Given the description of an element on the screen output the (x, y) to click on. 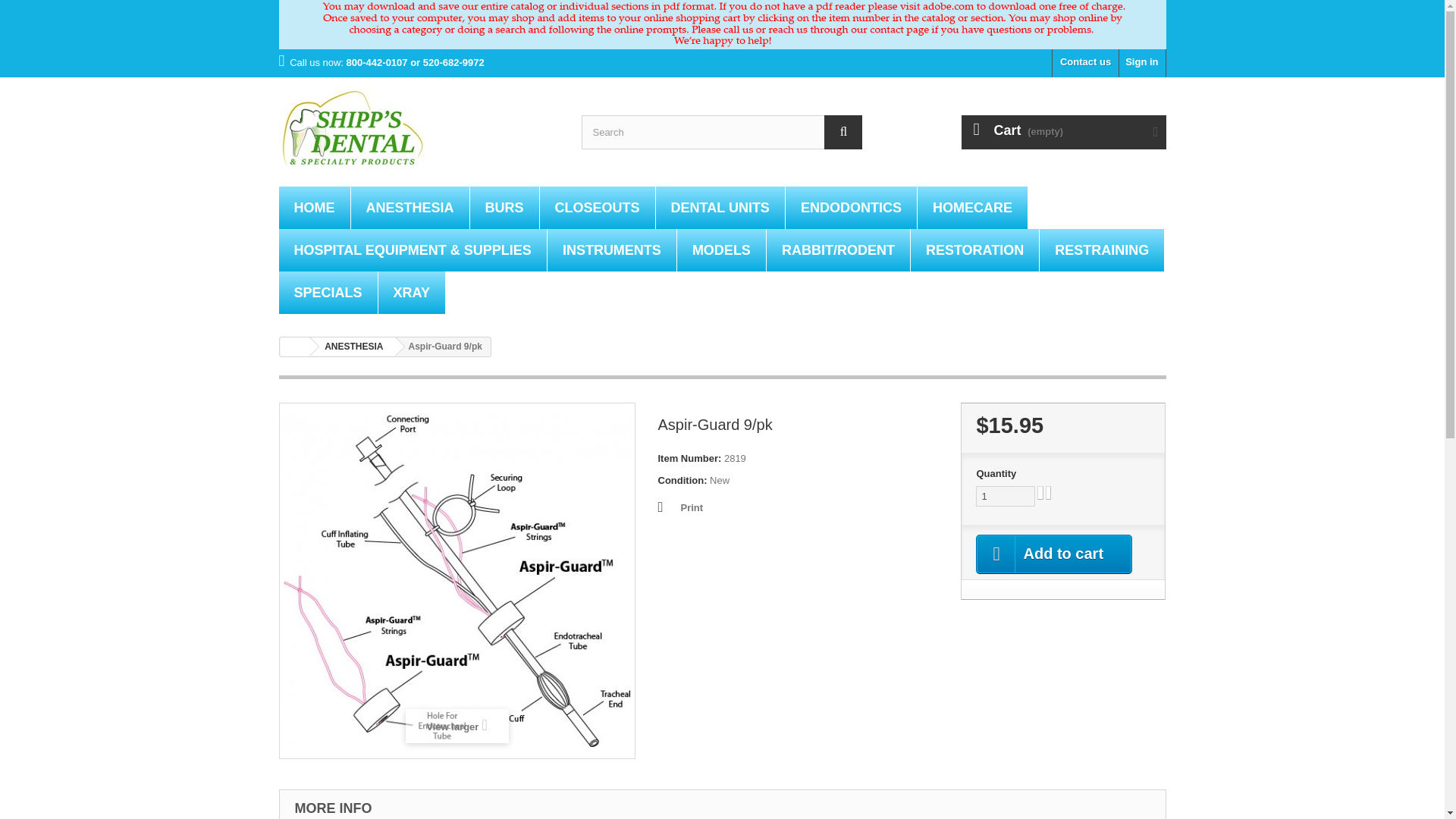
Contact us (1085, 62)
HOME (314, 208)
Log in to your customer account (1141, 62)
1 (1005, 496)
Shipps Dental and Specialty Products (419, 127)
Sign in (1141, 62)
Home (314, 208)
View my shopping cart (1063, 132)
Contact us (1085, 62)
